Given the description of an element on the screen output the (x, y) to click on. 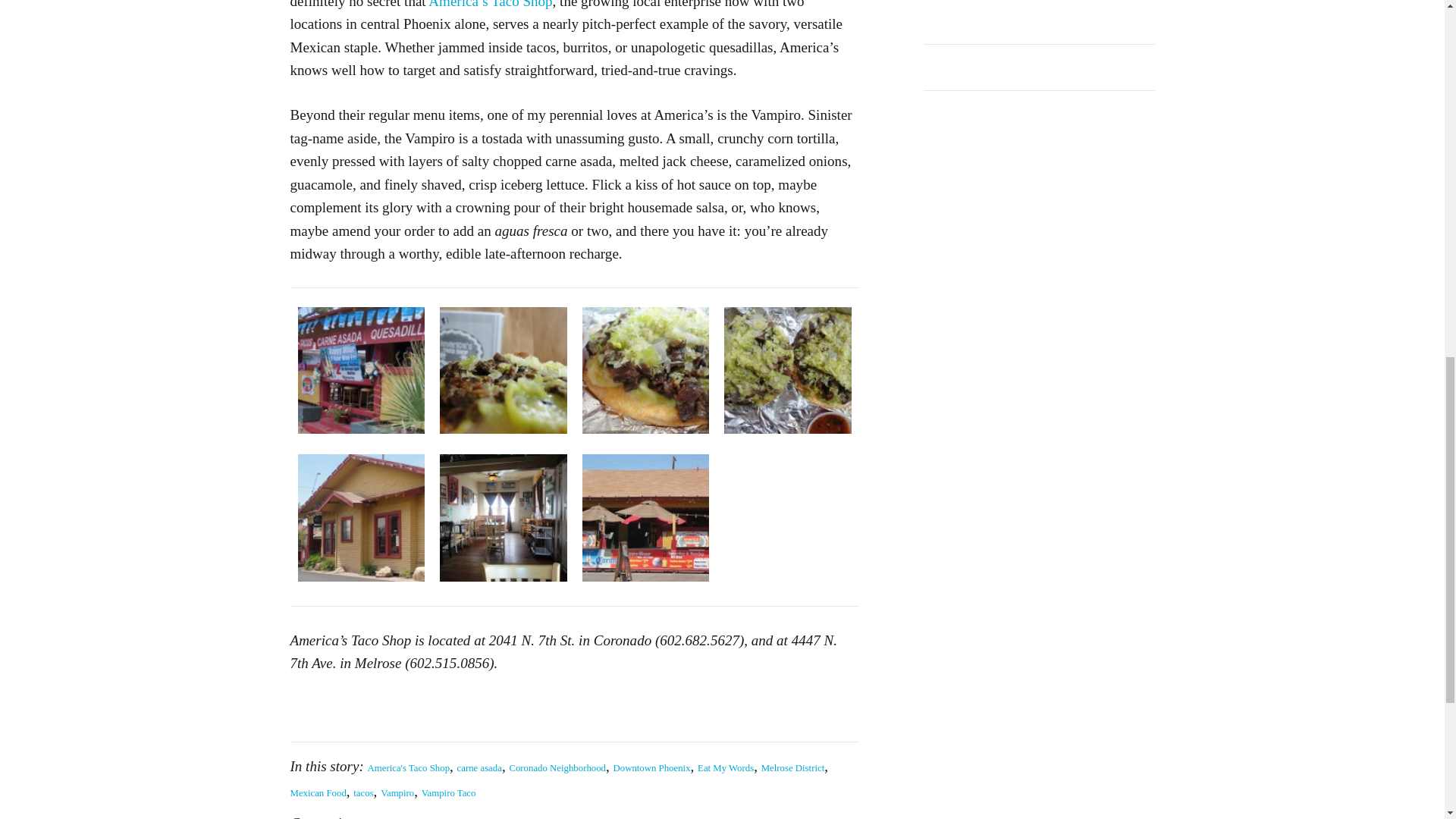
Downtown Phoenix (651, 767)
America's Taco Shop (489, 4)
Mexican Food (317, 792)
America's Taco Shop (408, 767)
Vampiro (396, 792)
Eat My Words (725, 767)
Melrose District (793, 767)
carne asada (479, 767)
Vampiro Taco (449, 792)
Coronado Neighborhood (556, 767)
tacos (362, 792)
